Given the description of an element on the screen output the (x, y) to click on. 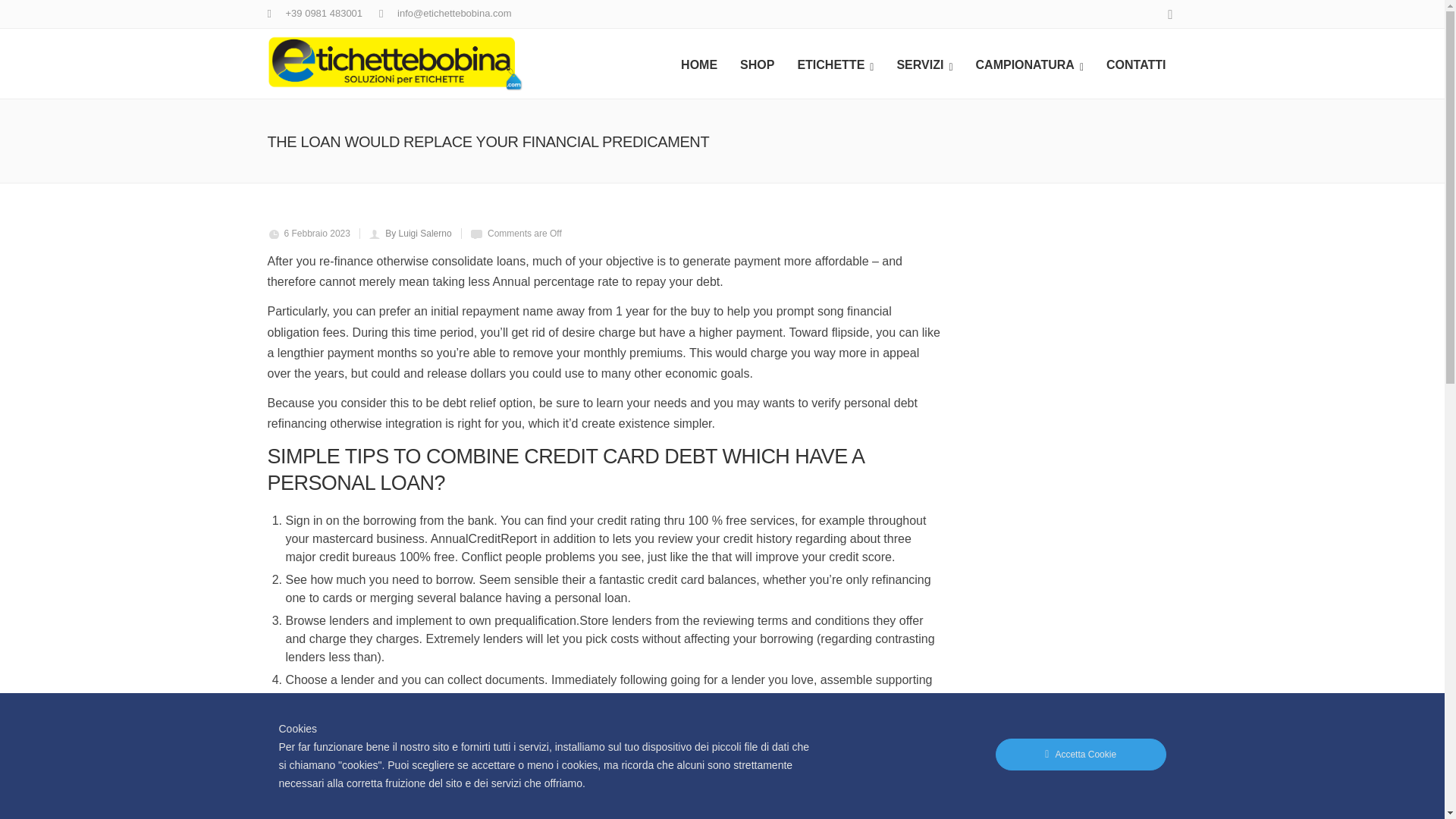
CAMPIONATURA (1028, 63)
Facebook (1170, 774)
Facebook (1169, 15)
SHOP (757, 63)
Condizioni generali di vendita (675, 526)
SERVIZI (924, 63)
CONTATTI (1135, 63)
By Luigi Salerno (418, 233)
ETICHETTE (835, 63)
title loans Portland TN (608, 706)
Pagamenti (631, 545)
HOME (699, 63)
